Given the description of an element on the screen output the (x, y) to click on. 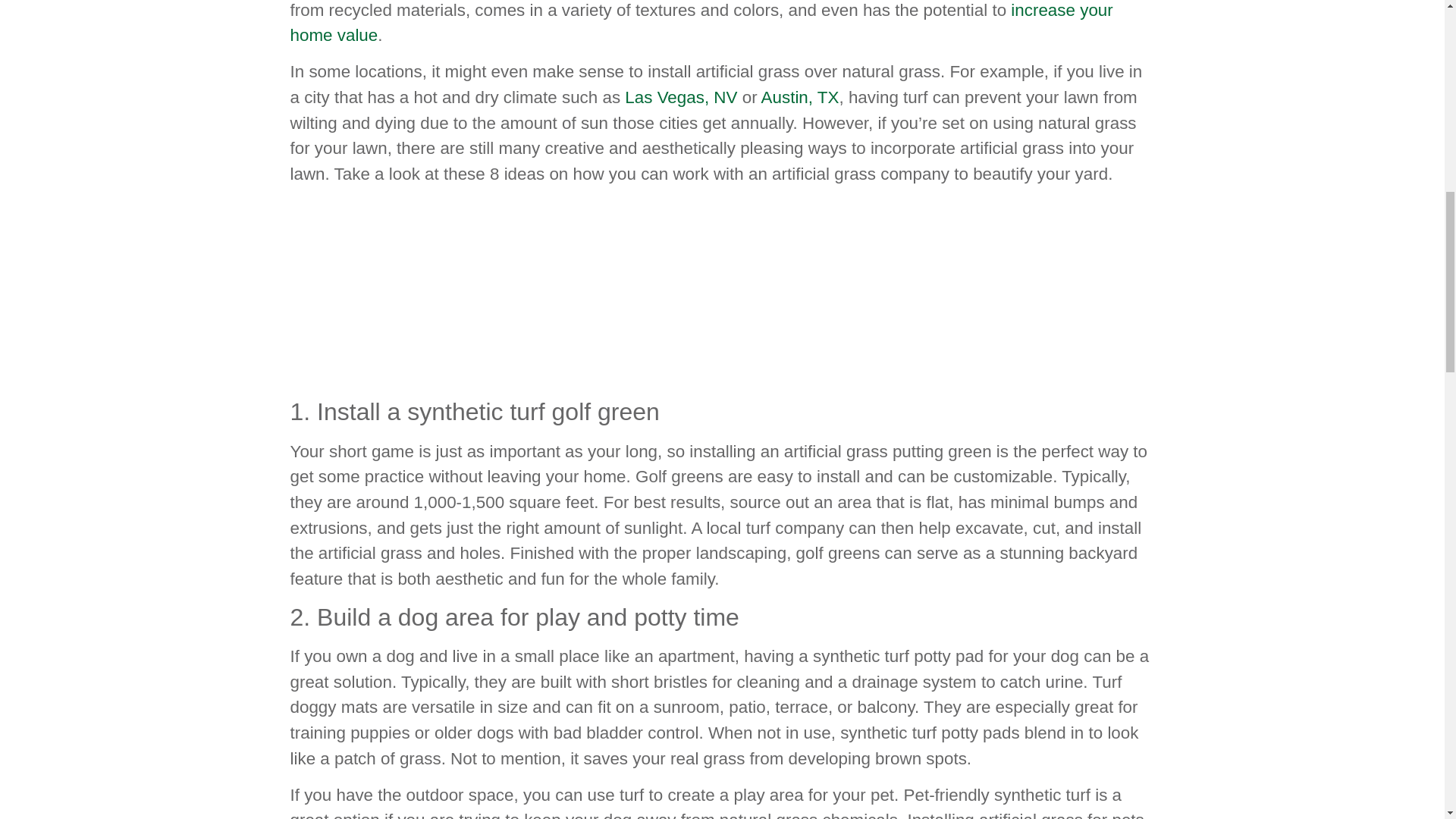
8 Ways to use Synthetic Turf to Beautify your Yard 3 (425, 288)
increase your home value (700, 22)
Las Vegas, NV (680, 97)
Austin, TX (800, 97)
